Given the description of an element on the screen output the (x, y) to click on. 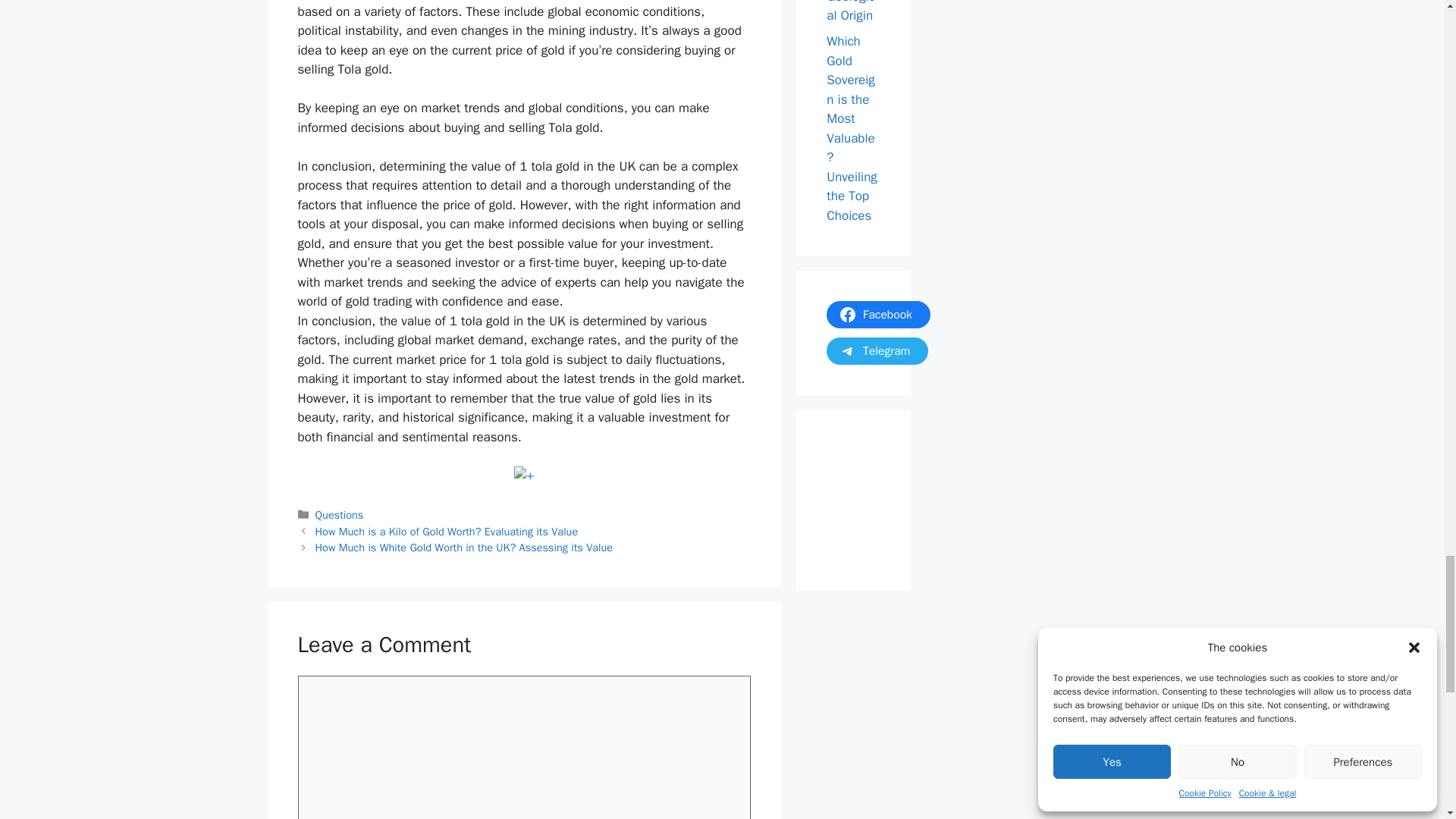
Questions (339, 514)
How Much is White Gold Worth in the UK? Assessing its Value (463, 547)
How Much is a Kilo of Gold Worth? Evaluating its Value (446, 531)
